Given the description of an element on the screen output the (x, y) to click on. 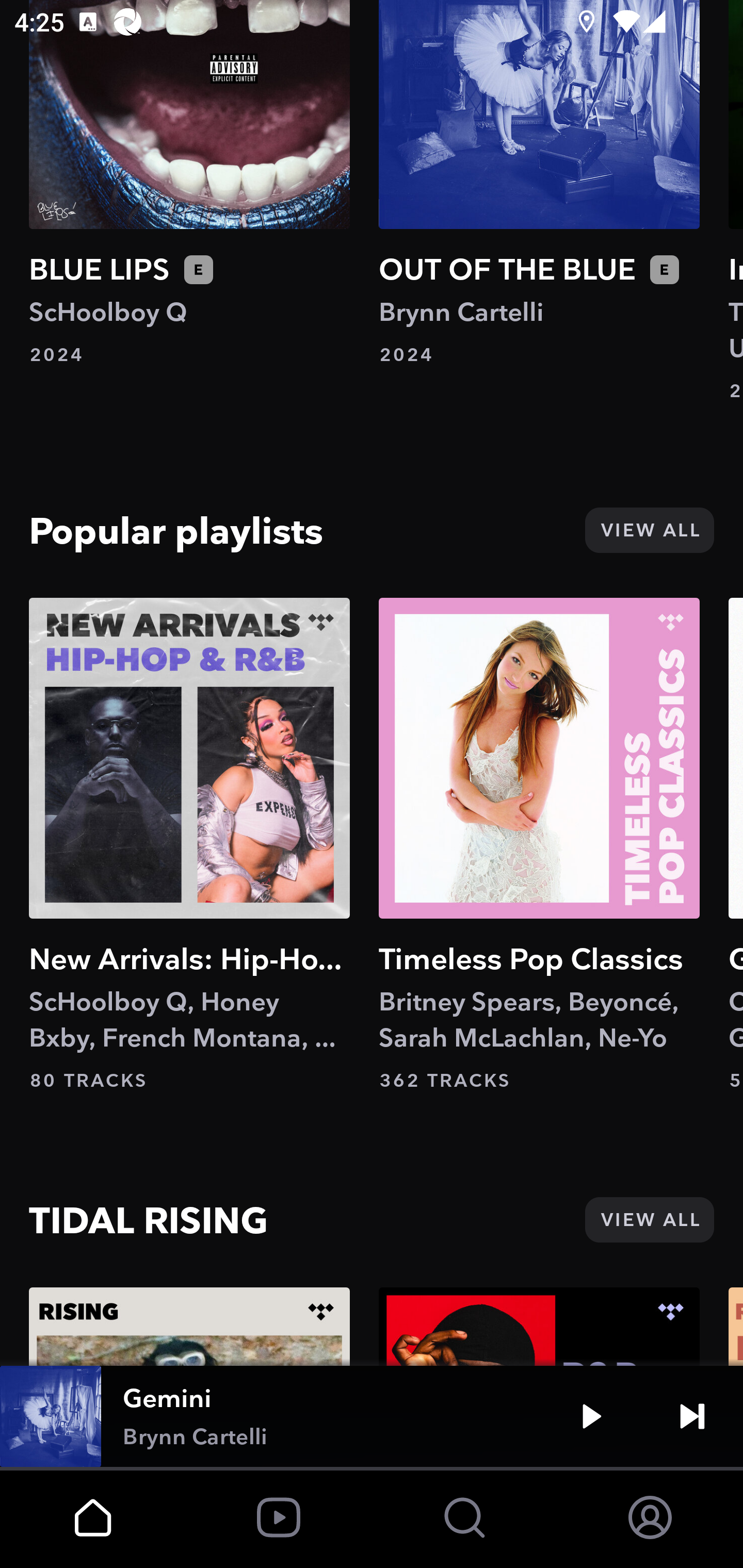
BLUE LIPS ScHoolboy Q 2024 (188, 183)
OUT OF THE BLUE Brynn Cartelli 2024 (538, 183)
VIEW ALL (649, 530)
VIEW ALL (649, 1218)
Gemini Brynn Cartelli Play (371, 1416)
Play (590, 1416)
